Given the description of an element on the screen output the (x, y) to click on. 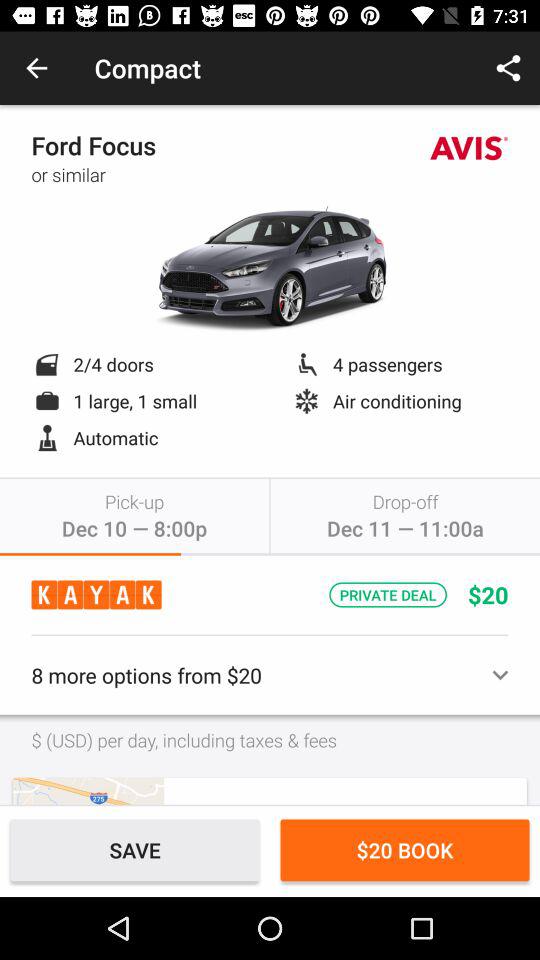
click to use map (88, 790)
